Given the description of an element on the screen output the (x, y) to click on. 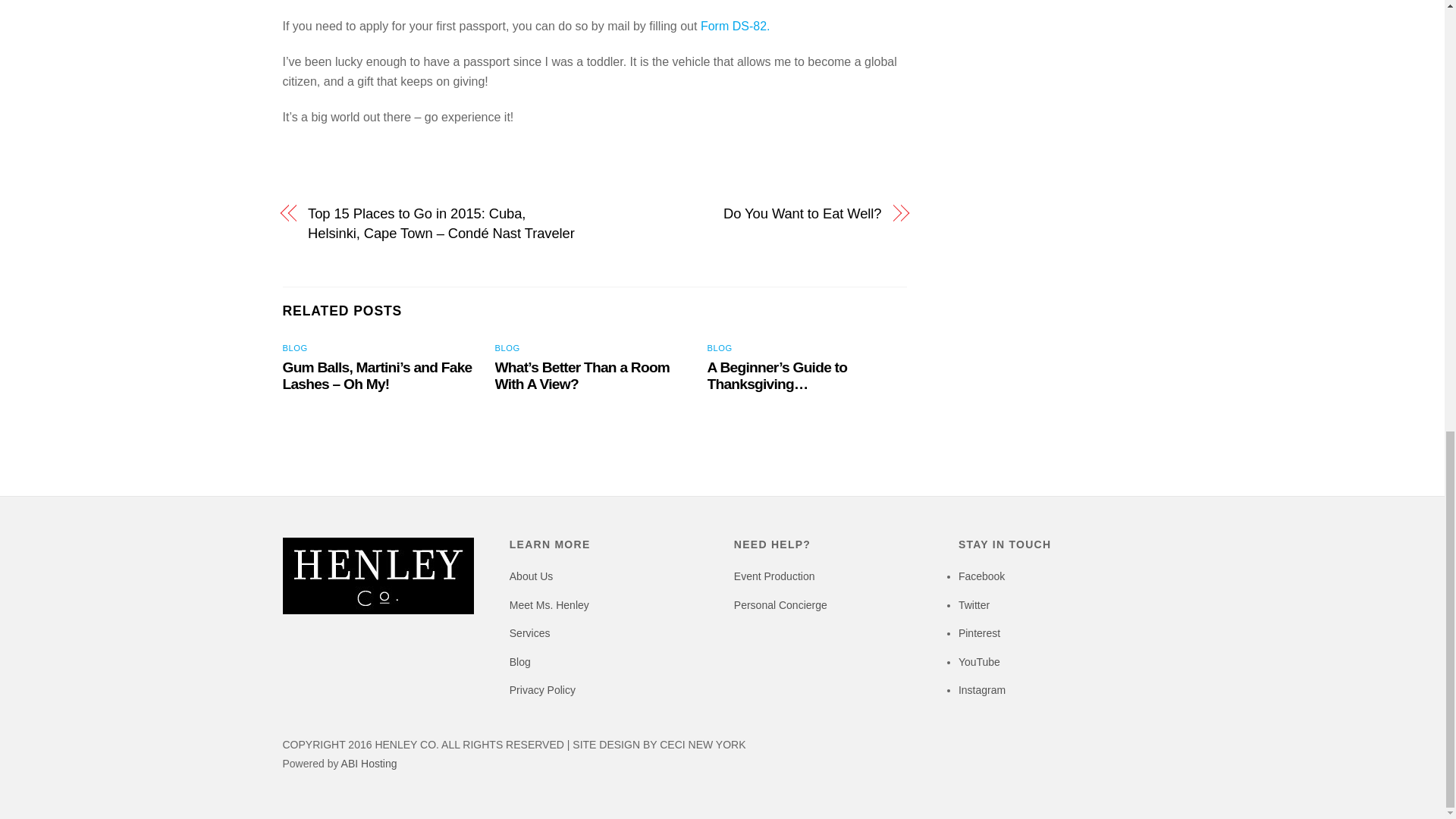
The Henley Company (377, 610)
BLOG (507, 347)
Do You Want to Eat Well? (746, 213)
BLOG (719, 347)
Twitter (974, 604)
Pinterest (979, 633)
Instagram (982, 689)
BLOG (294, 347)
Form DS-82. (735, 25)
YouTube (979, 662)
Facebook (981, 576)
